Given the description of an element on the screen output the (x, y) to click on. 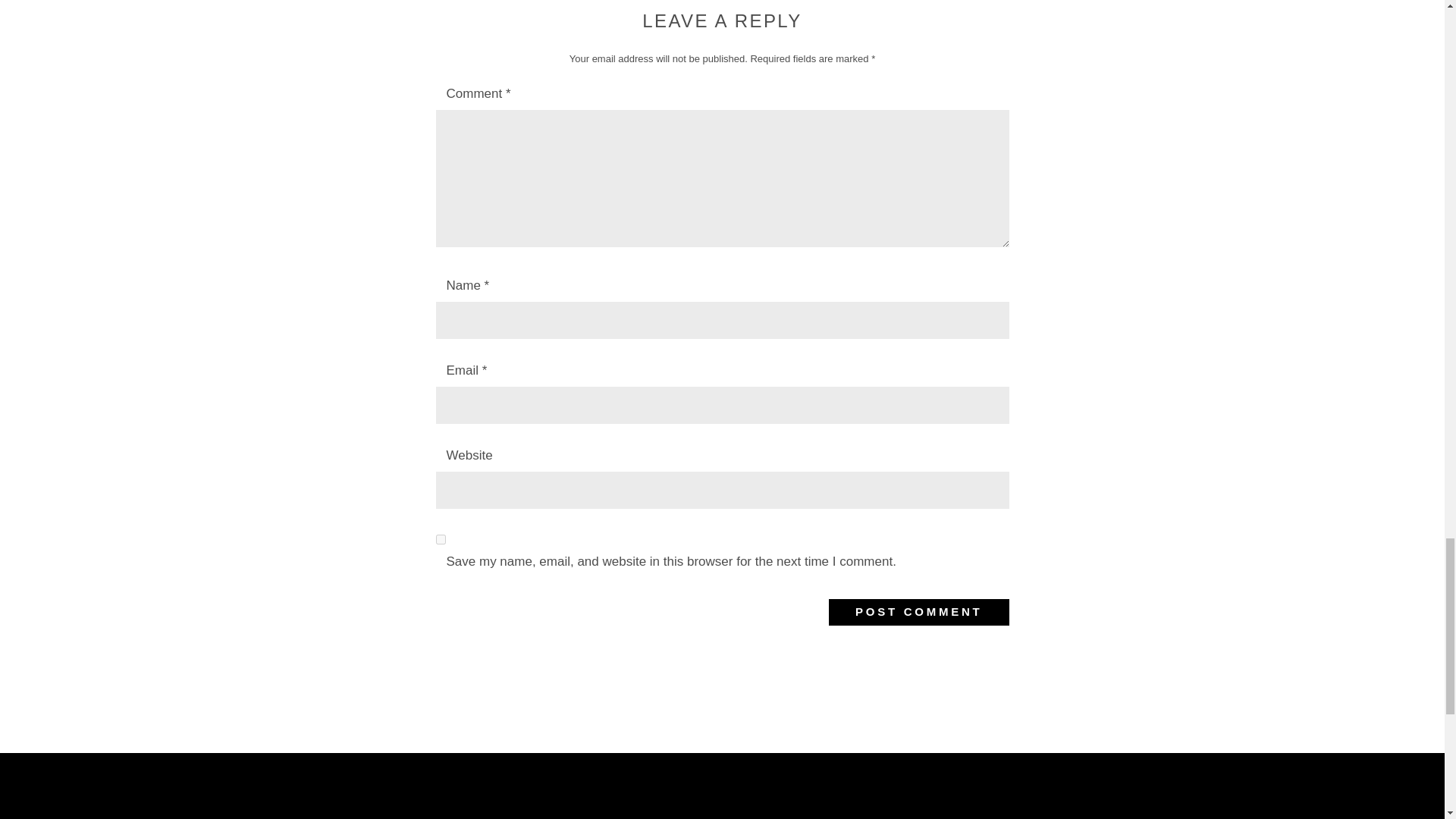
yes (440, 539)
Post Comment (918, 611)
Post Comment (918, 611)
